Given the description of an element on the screen output the (x, y) to click on. 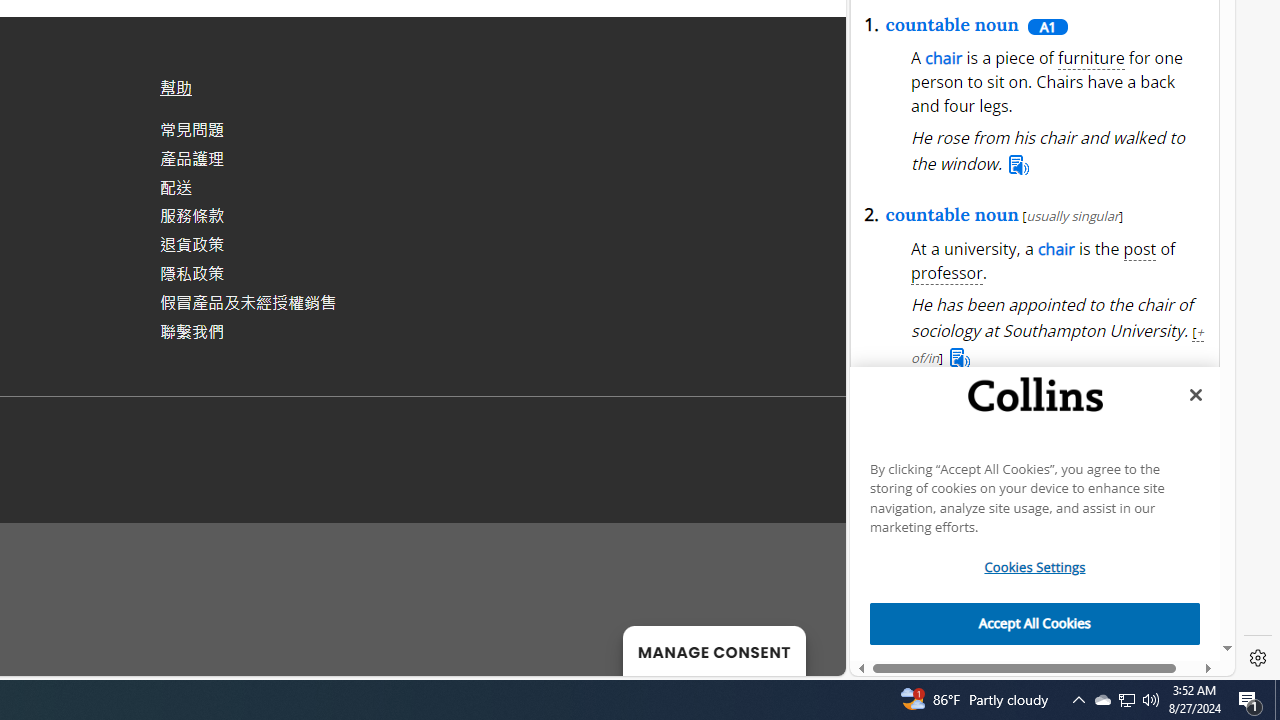
Open (1027, 230)
lead (1047, 125)
